Given the description of an element on the screen output the (x, y) to click on. 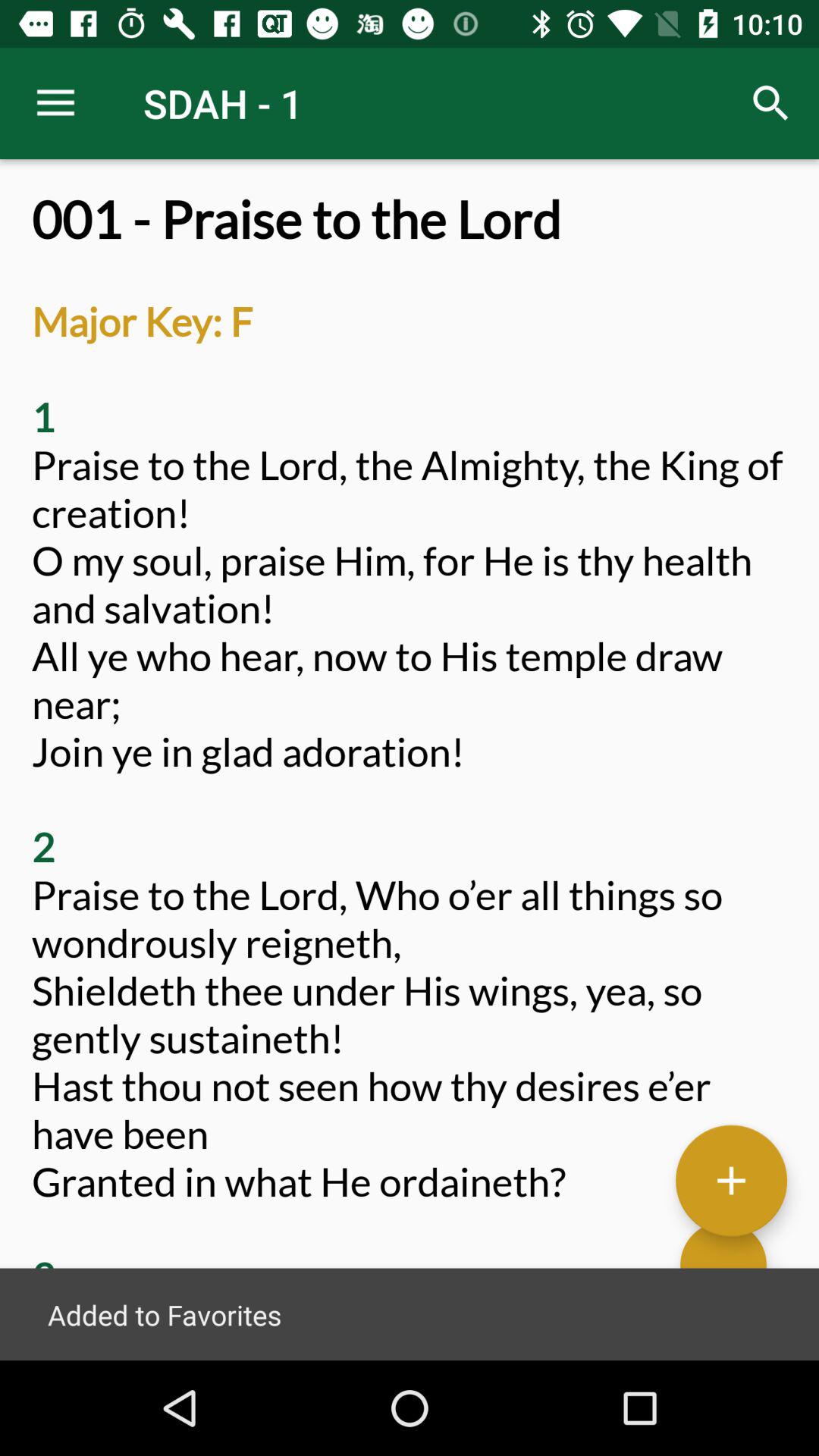
click the item at the bottom right corner (731, 1179)
